Given the description of an element on the screen output the (x, y) to click on. 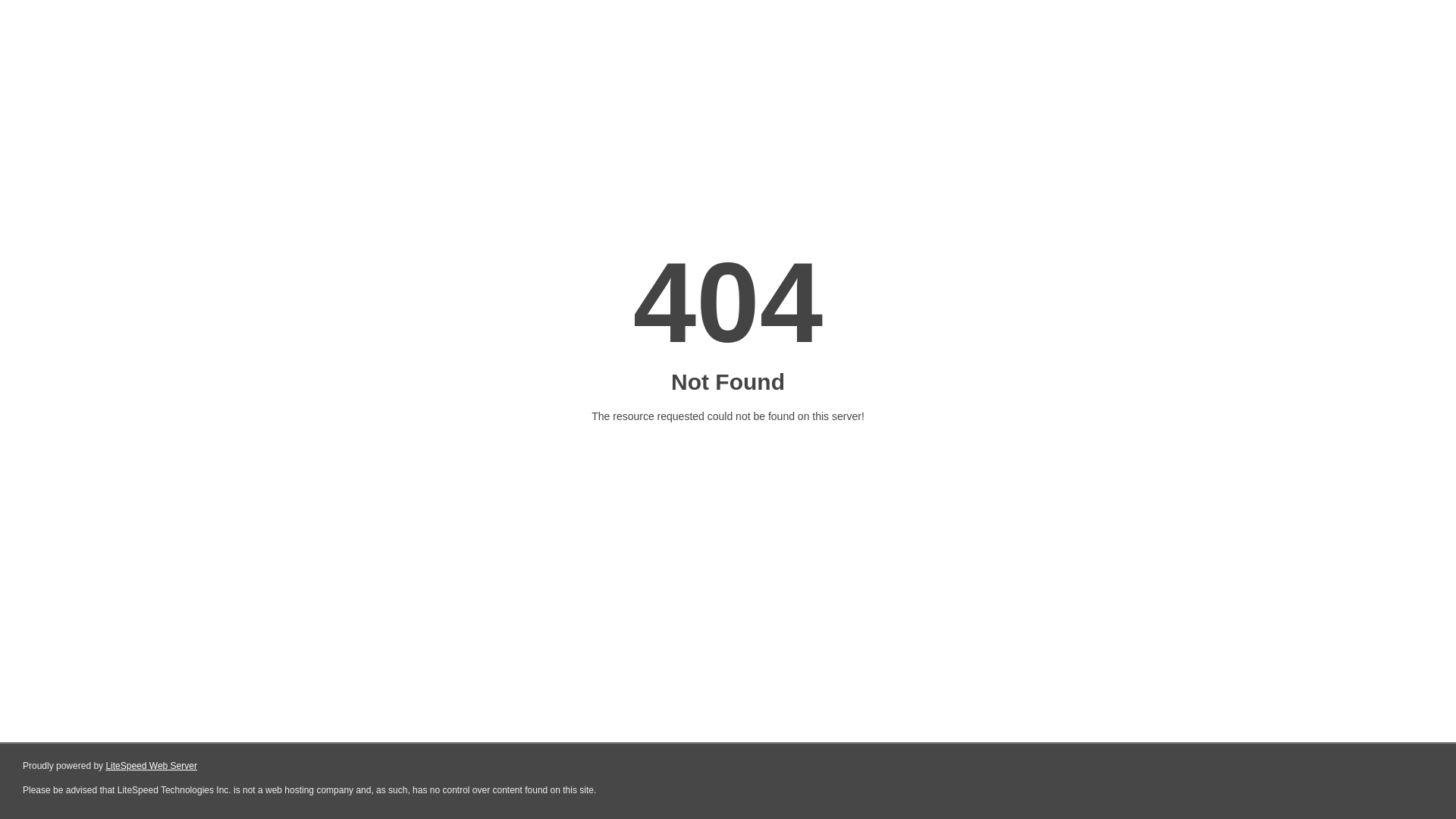
LiteSpeed Web Server Element type: text (151, 765)
